Given the description of an element on the screen output the (x, y) to click on. 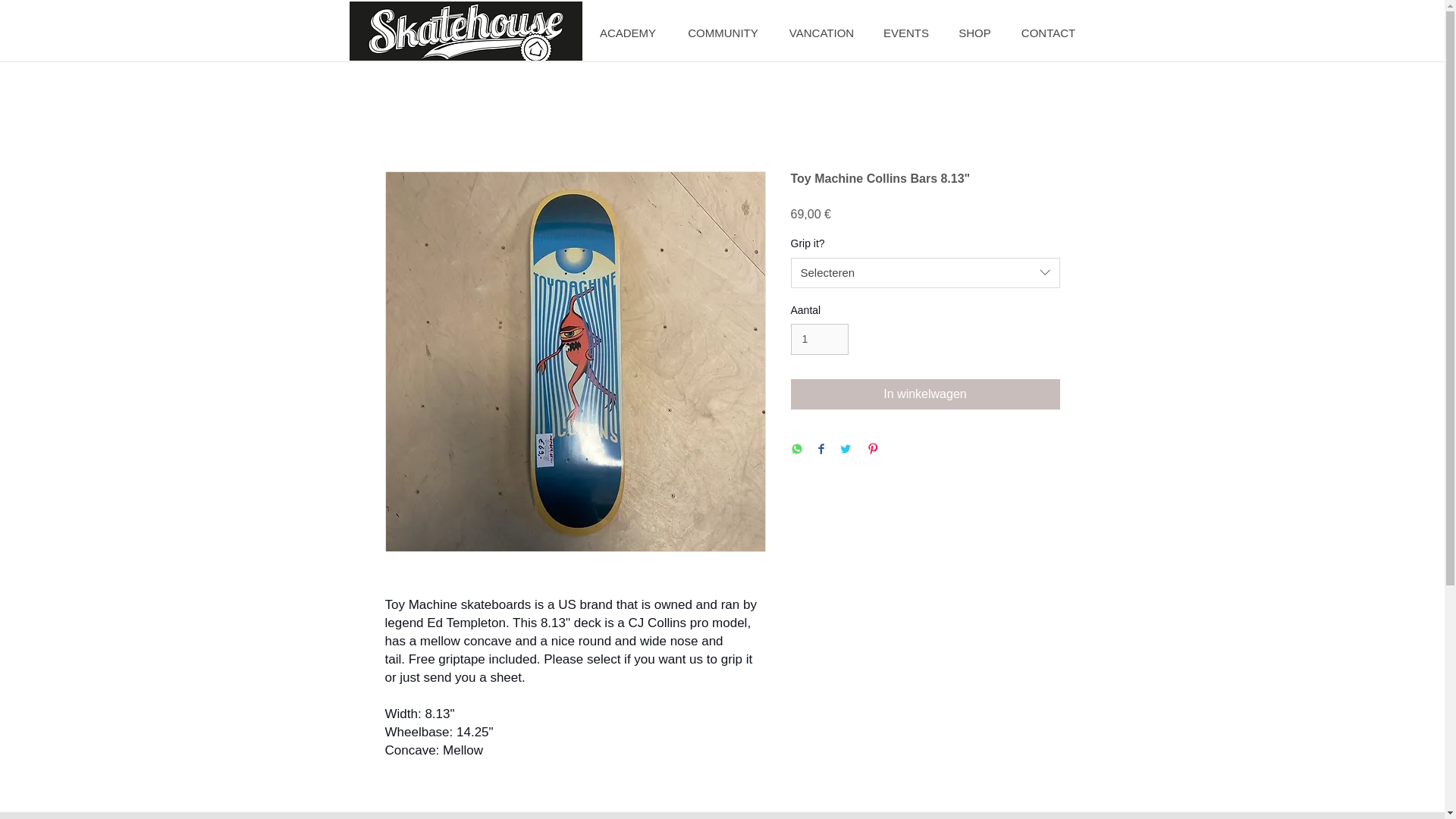
VANCATION (820, 33)
SHOP (974, 33)
Selecteren (924, 272)
EVENTS (906, 33)
ACADEMY (627, 33)
CONTACT (1047, 33)
In winkelwagen (924, 394)
COMMUNITY (722, 33)
1 (818, 338)
